Given the description of an element on the screen output the (x, y) to click on. 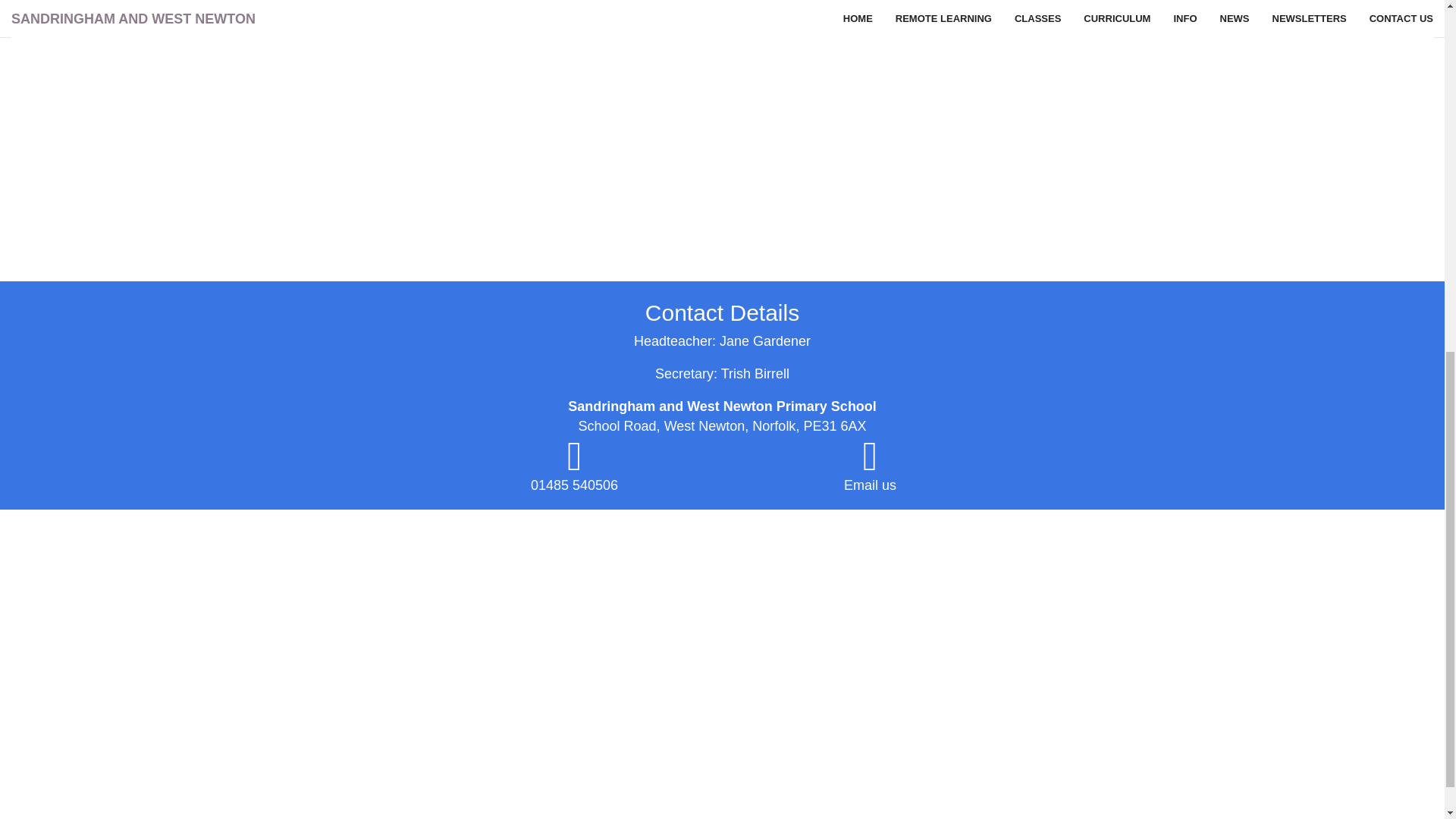
01485 540506 (574, 485)
Email us (870, 485)
